Given the description of an element on the screen output the (x, y) to click on. 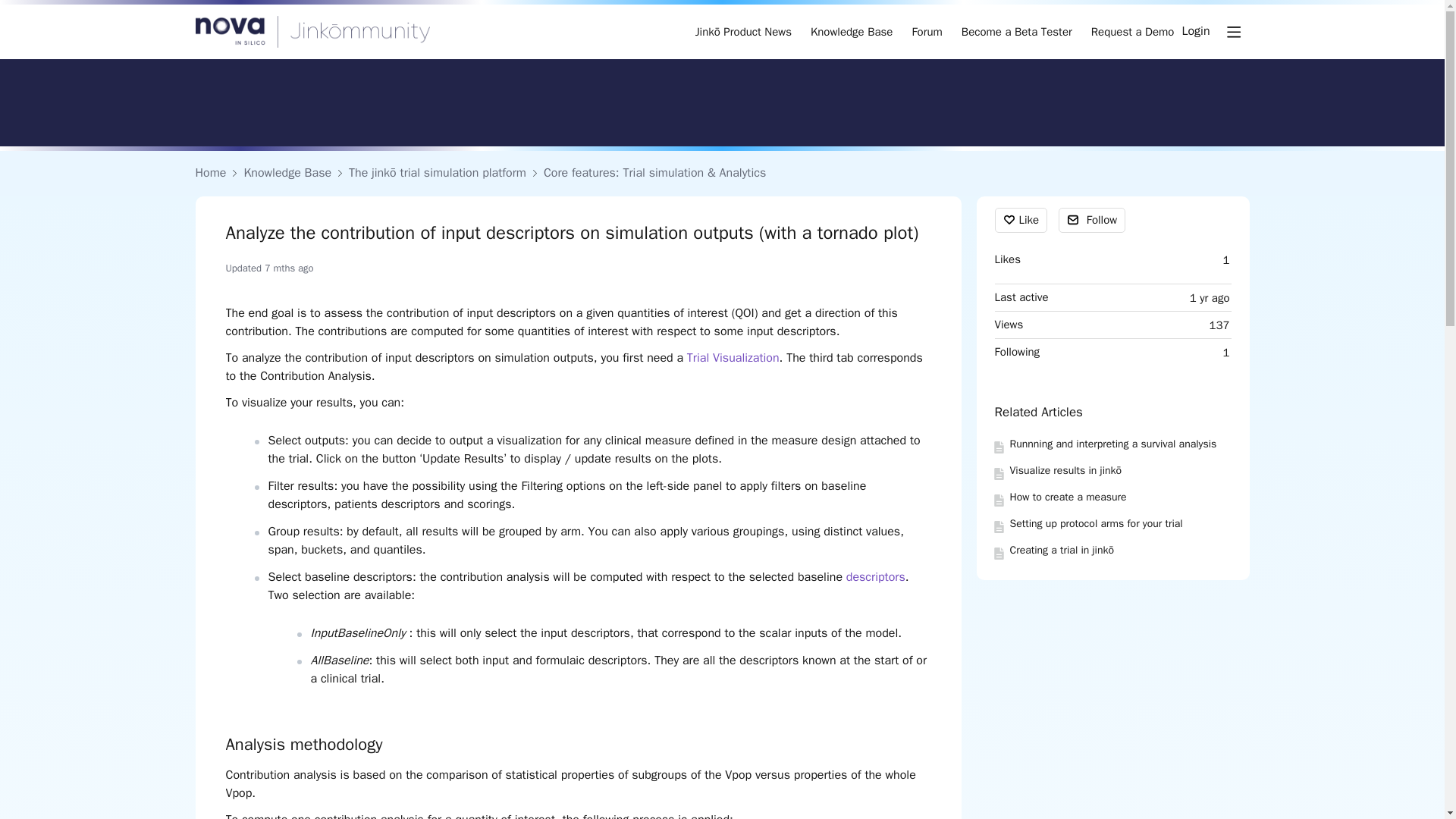
Become a Beta Tester (1015, 31)
Follow (1091, 220)
Home (211, 173)
Trial Visualization (732, 357)
Runnning and interpreting a survival analysis (1113, 443)
How to create a measure (1068, 496)
Login (1194, 31)
descriptors (875, 576)
Like (1021, 220)
Request a Demo (1132, 31)
Forum (926, 31)
Setting up protocol arms for your trial (1096, 522)
Knowledge Base (851, 31)
Knowledge Base (287, 173)
